Given the description of an element on the screen output the (x, y) to click on. 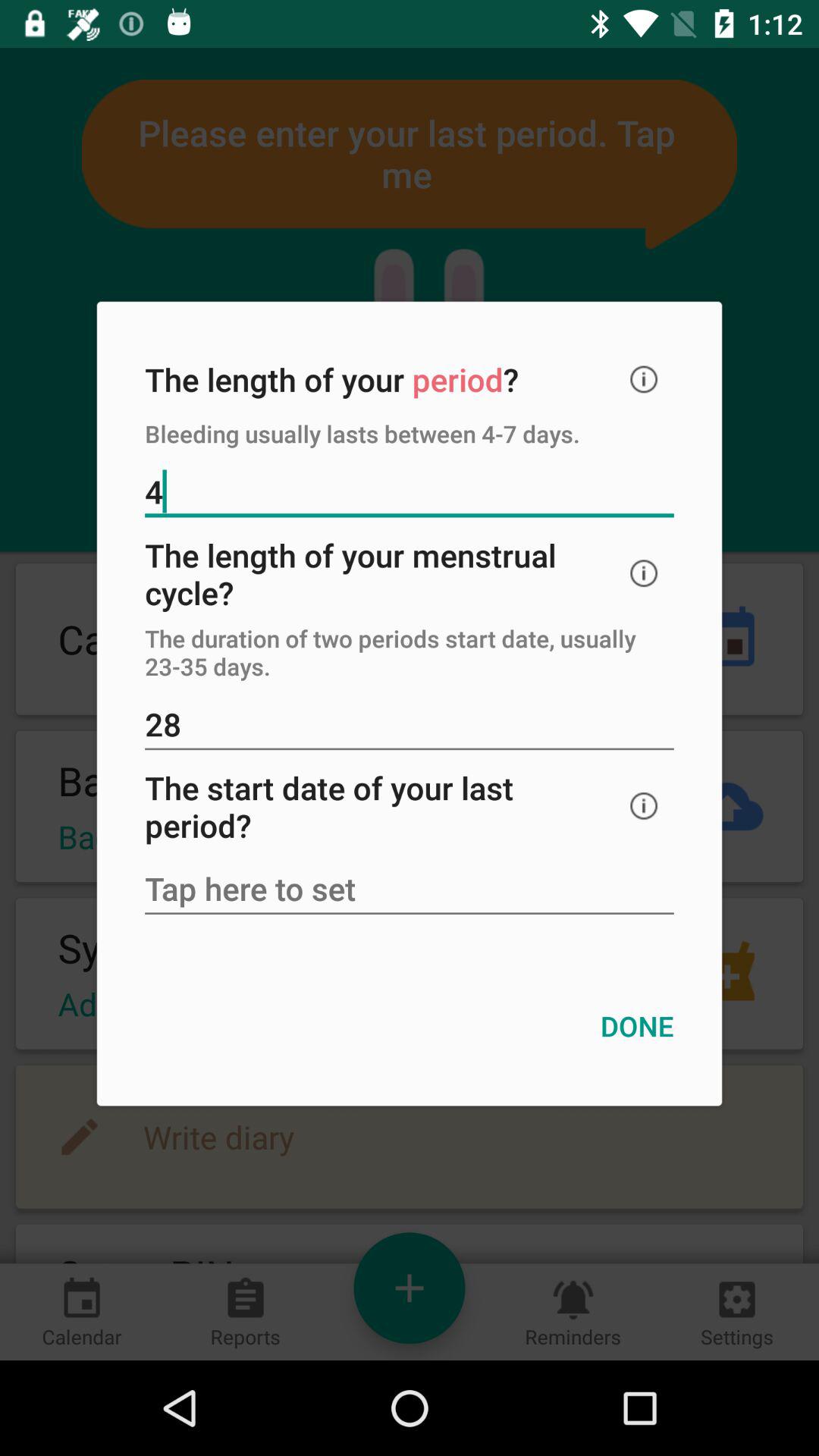
turn on 28 (409, 726)
